Given the description of an element on the screen output the (x, y) to click on. 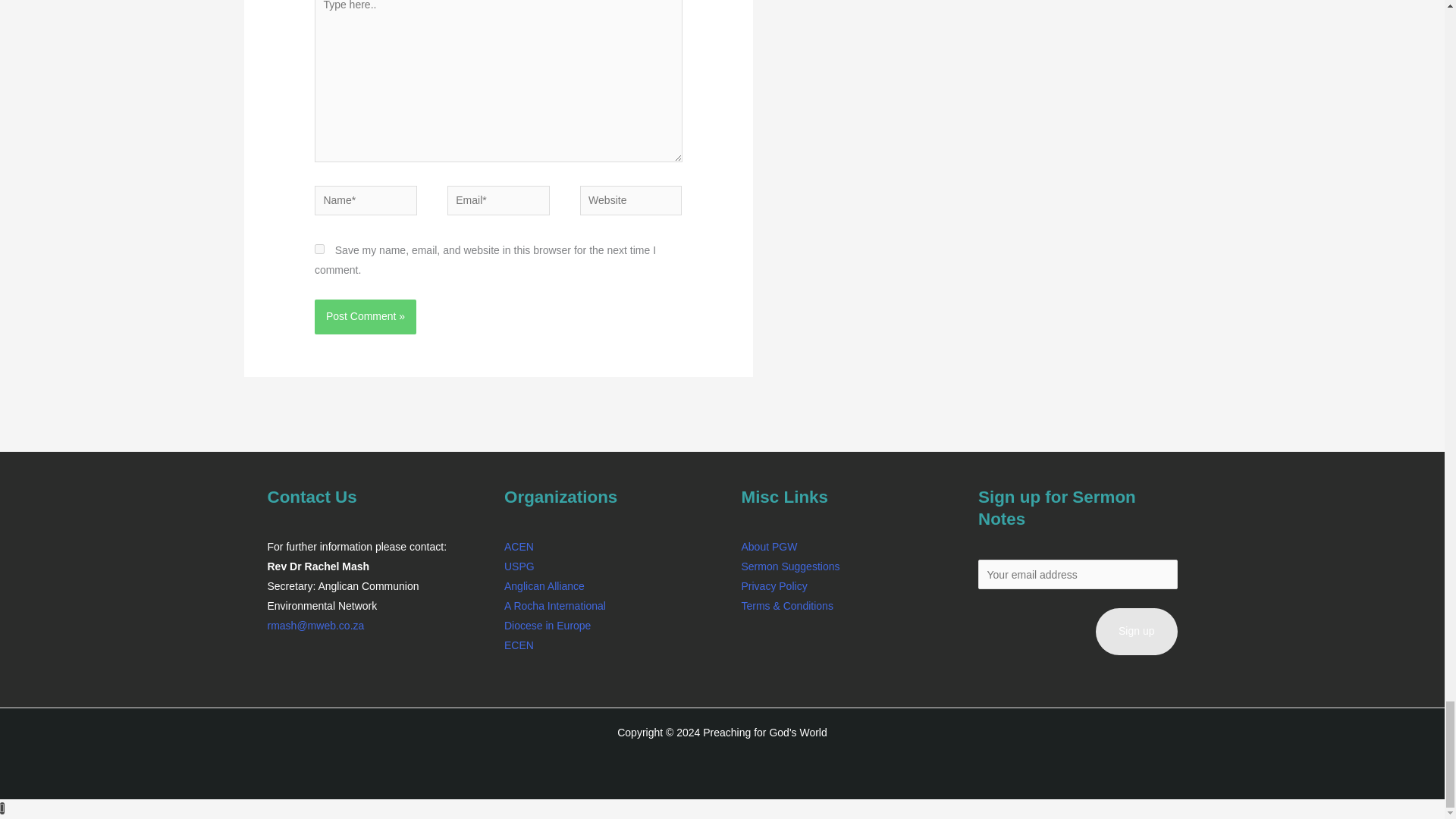
yes (319, 248)
Sign up (1136, 631)
USPG (518, 566)
ACEN (518, 546)
